Given the description of an element on the screen output the (x, y) to click on. 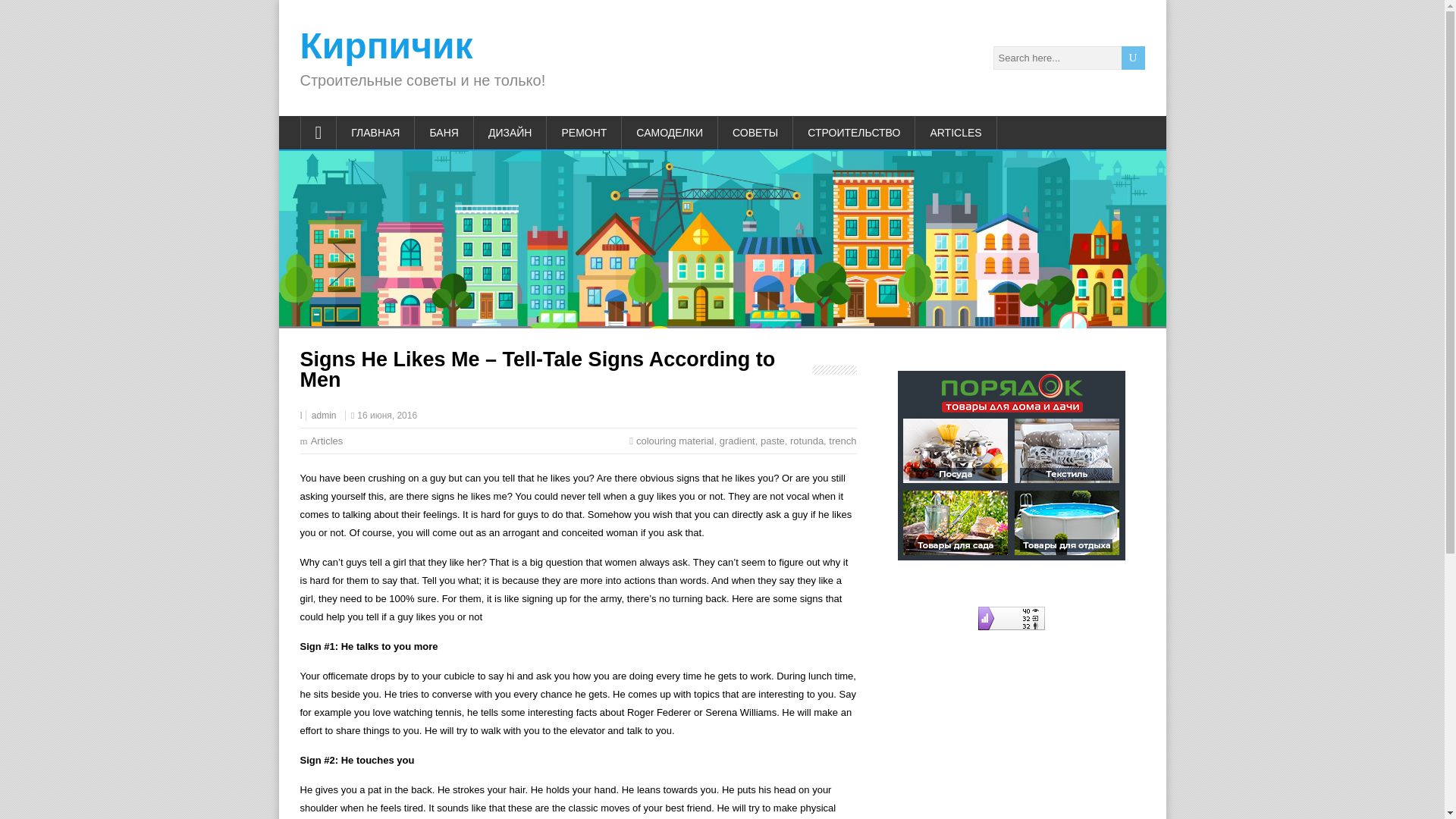
paste (772, 440)
trench (842, 440)
U (1132, 57)
gradient (737, 440)
admin (323, 415)
ARTICLES (955, 132)
rotunda (807, 440)
colouring material (675, 440)
U (1132, 57)
Articles (327, 440)
